Given the description of an element on the screen output the (x, y) to click on. 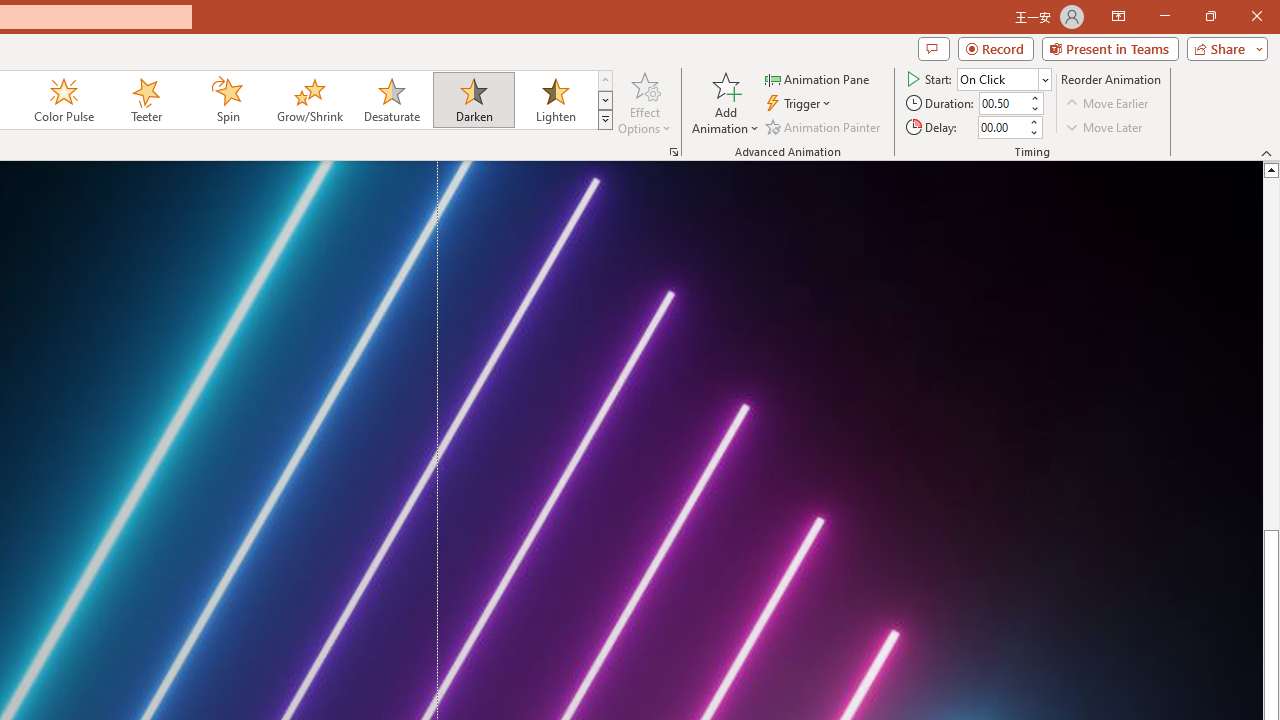
Add Animation (725, 102)
Color Pulse (63, 100)
Lighten (555, 100)
Less (1033, 132)
More (1033, 121)
Spin (227, 100)
Move Earlier (1107, 103)
